Given the description of an element on the screen output the (x, y) to click on. 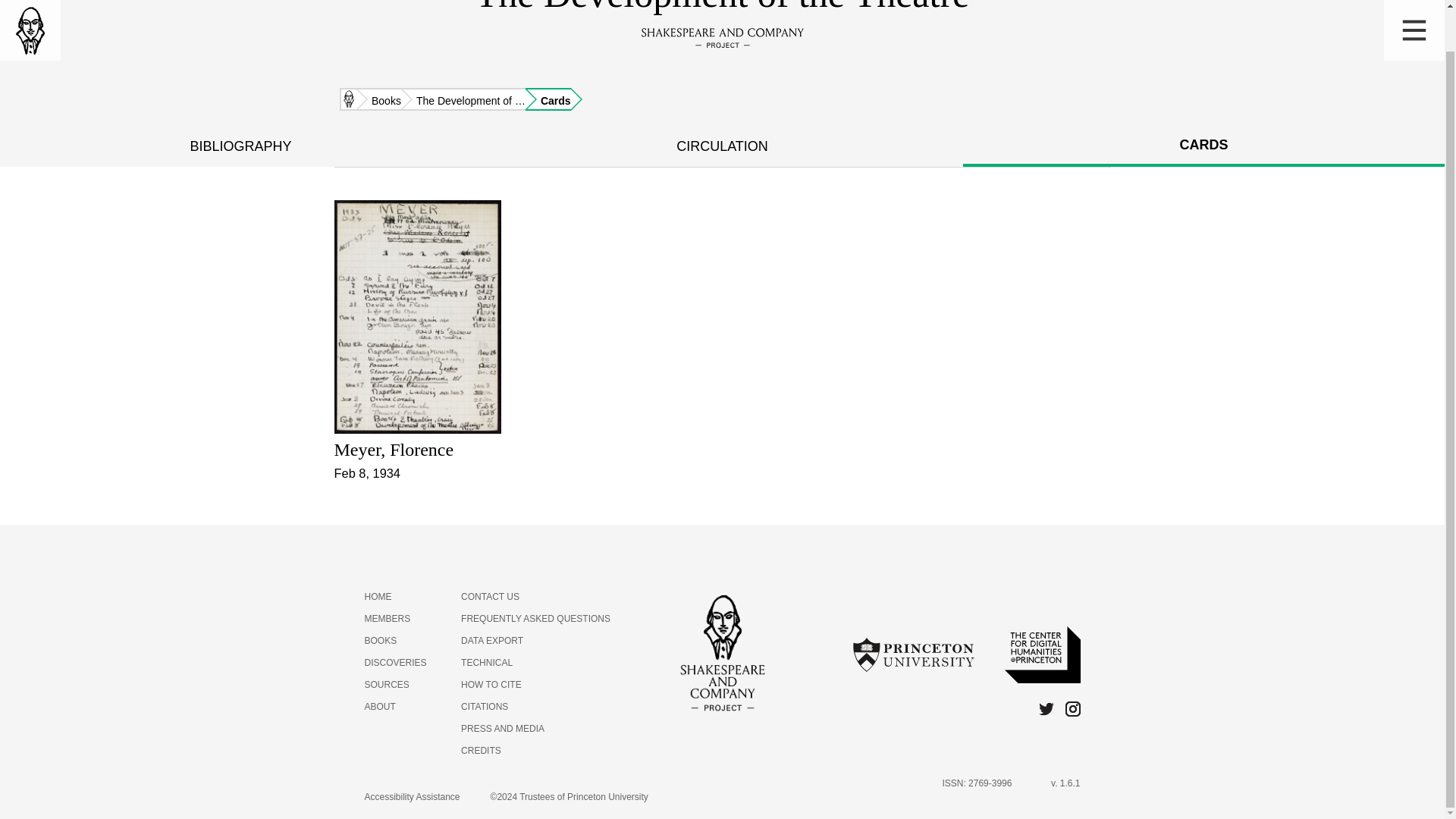
FREQUENTLY ASKED QUESTIONS (535, 618)
Accessibility Assistance (412, 796)
DISCOVERIES (395, 662)
MEMBERS (387, 618)
CITATIONS (484, 706)
BOOKS (380, 640)
HOME (377, 596)
TECHNICAL (486, 662)
SOURCES (386, 684)
HOW TO CITE (491, 684)
Books (378, 98)
CREDITS (480, 750)
ABOUT (379, 706)
CONTACT US (490, 596)
PRESS AND MEDIA (502, 728)
